Given the description of an element on the screen output the (x, y) to click on. 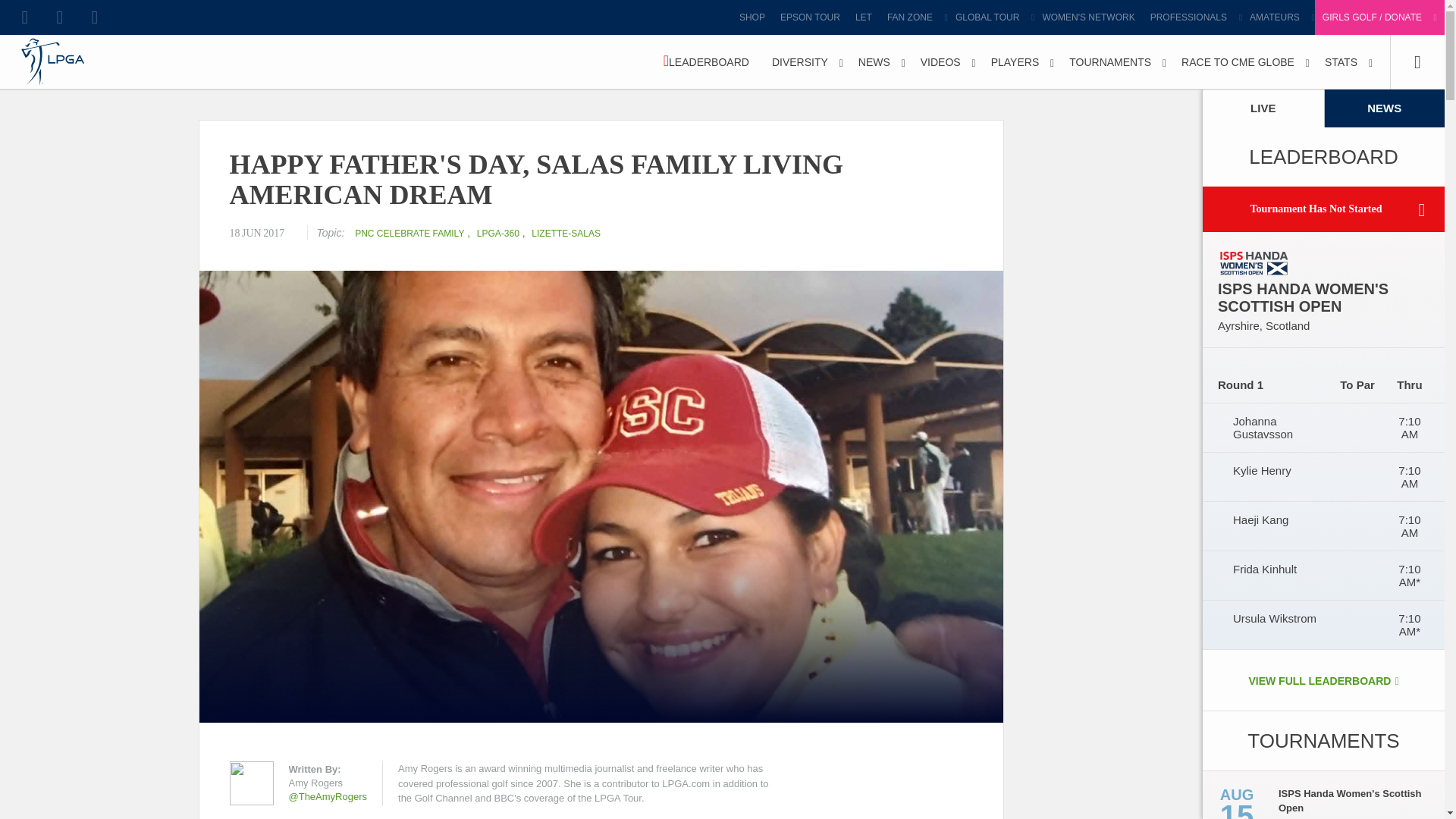
EPSON TOUR (810, 17)
FAN ZONE (913, 17)
LEADERBOARD (706, 62)
GLOBAL TOUR (990, 17)
PROFESSIONALS (1191, 17)
AMATEURS (1277, 17)
WOMEN'S NETWORK (1087, 17)
LET (863, 17)
DIVERSITY (803, 62)
SHOP (752, 17)
